Given the description of an element on the screen output the (x, y) to click on. 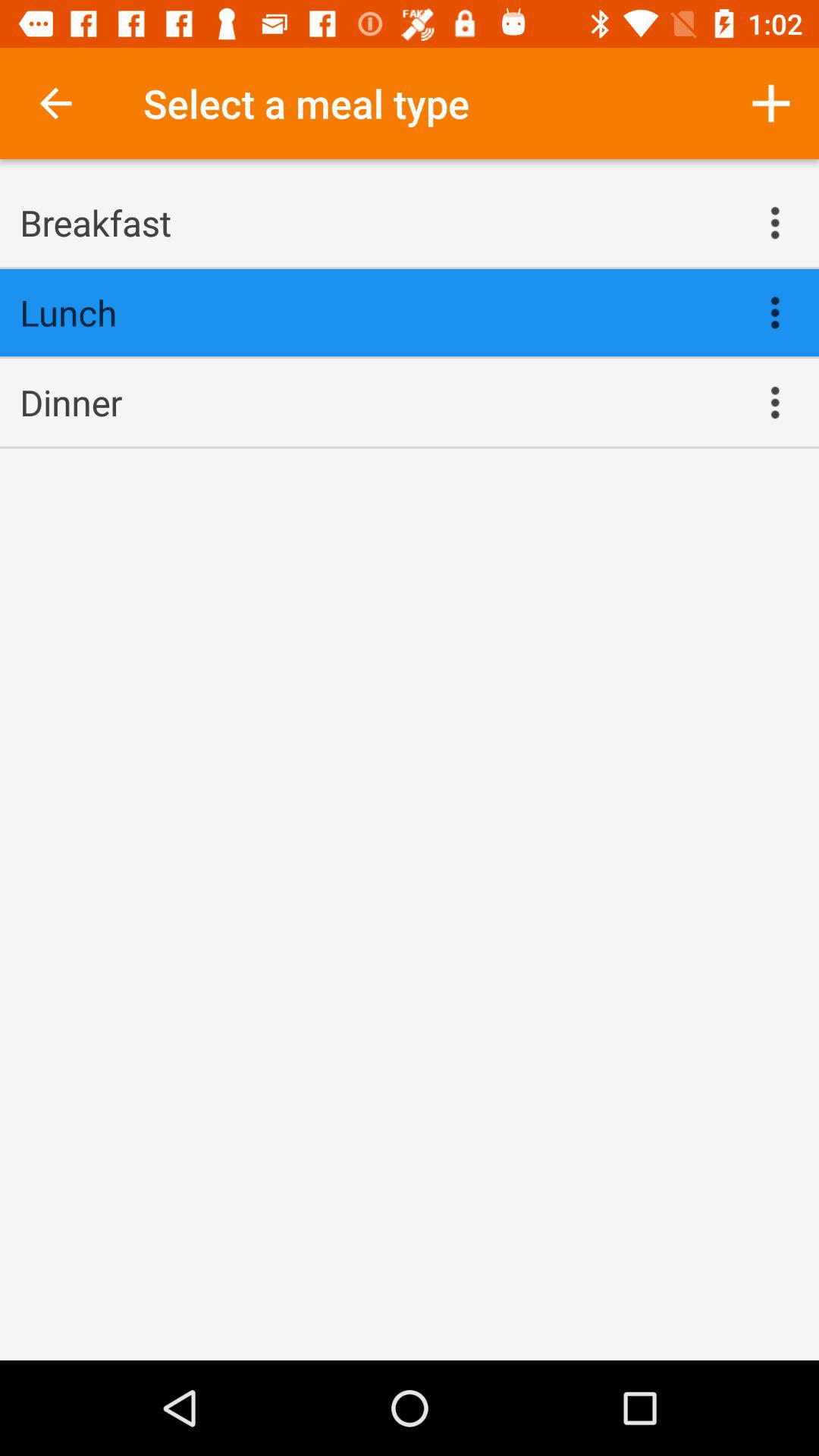
select dinner (375, 402)
